Given the description of an element on the screen output the (x, y) to click on. 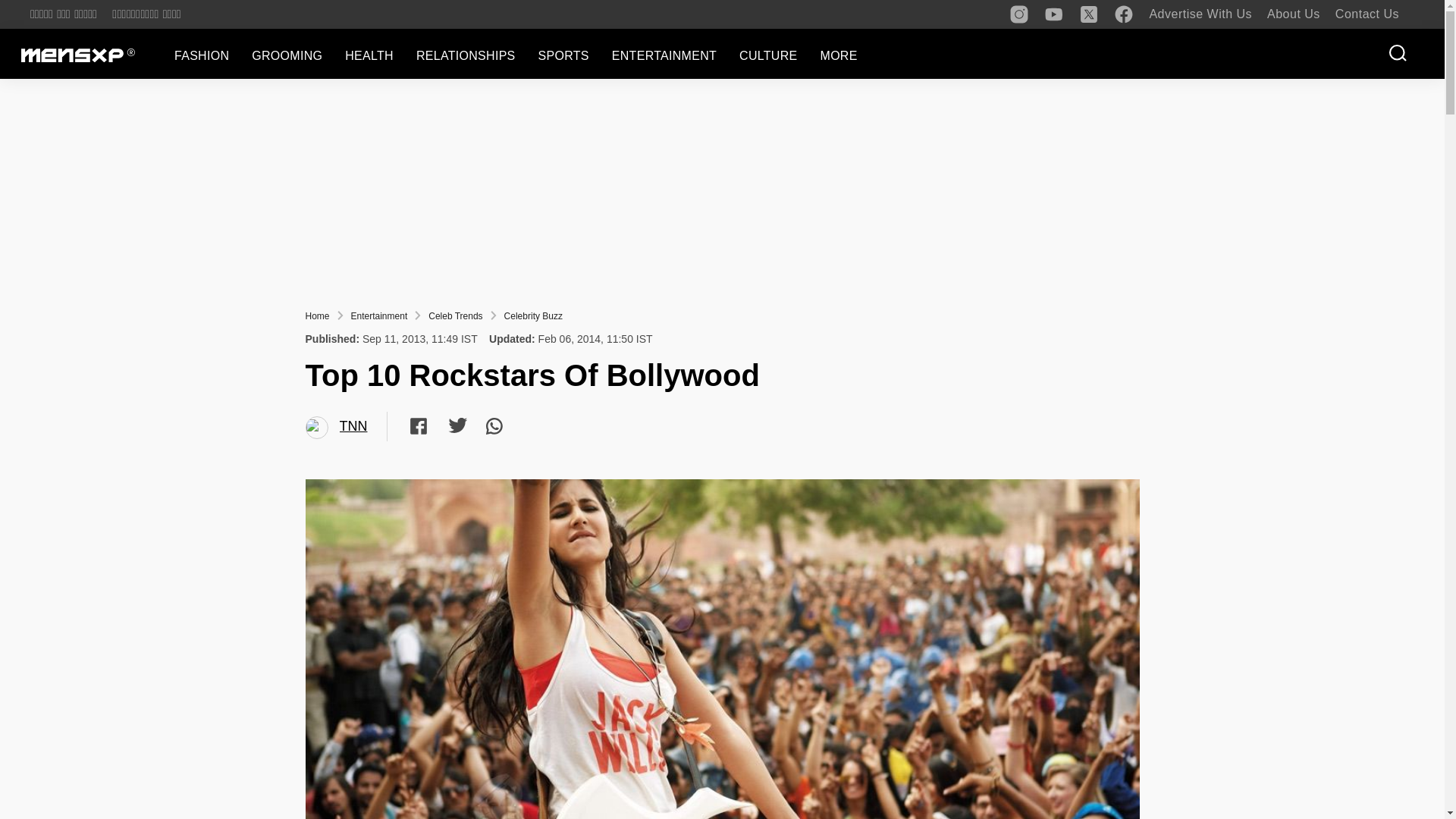
Contact Us  (1367, 13)
Celeb Trends (454, 316)
Celebrity Buzz (532, 316)
Home (316, 316)
Advertise With Us (1200, 13)
Advertise With Us (1200, 13)
About Us (1293, 13)
About Us (1293, 13)
Contact Us (1367, 13)
Entertainment (378, 316)
